Given the description of an element on the screen output the (x, y) to click on. 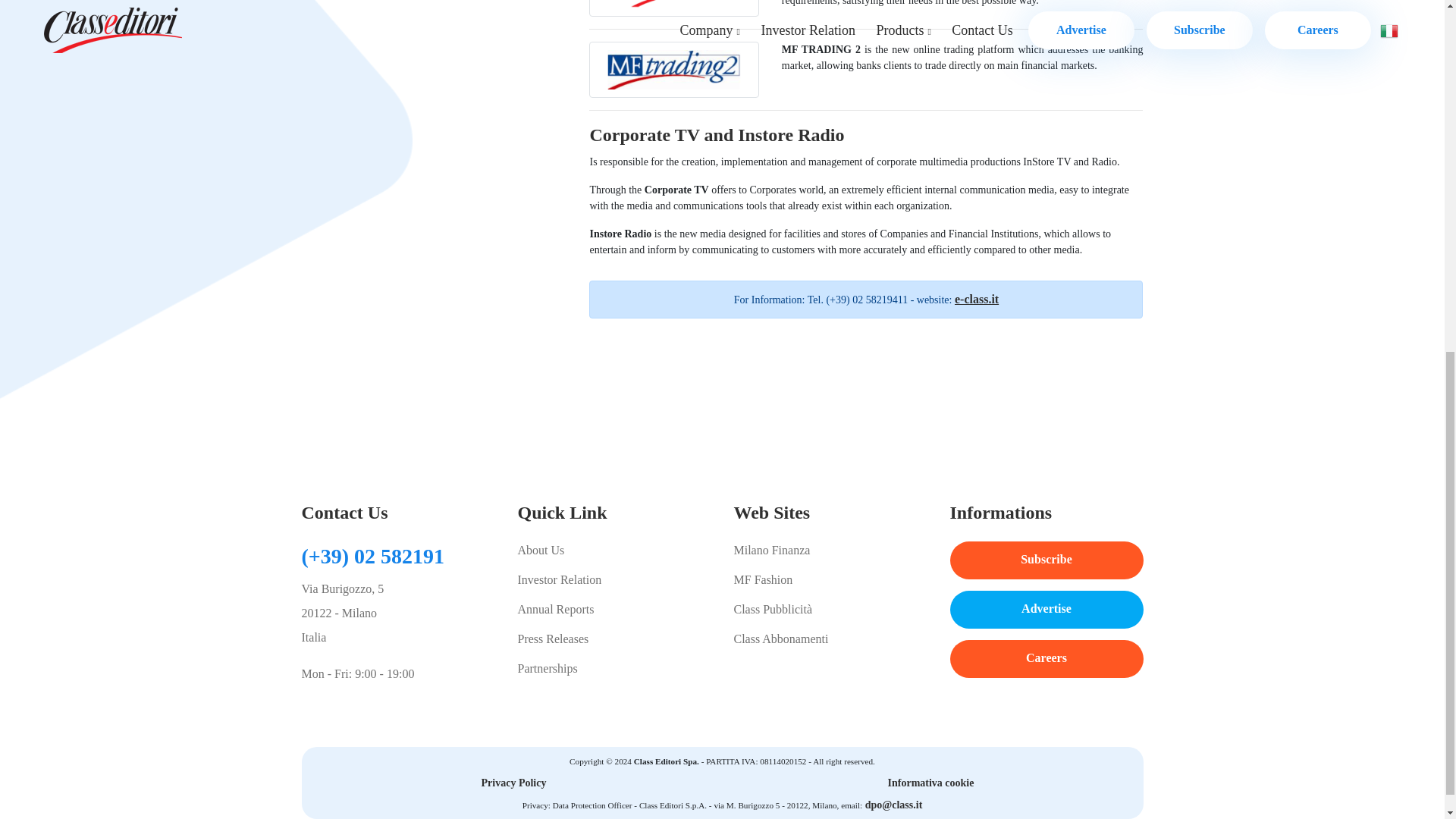
Partnerships (613, 669)
Annual Reports (613, 609)
About Us (613, 550)
Investor Relation (613, 579)
MF Fashion (830, 579)
Subscribe (1045, 560)
Press Releases (613, 638)
Advertise (1045, 609)
e-class.it (976, 298)
Milano Finanza (830, 550)
Class Abbonamenti (830, 638)
